Given the description of an element on the screen output the (x, y) to click on. 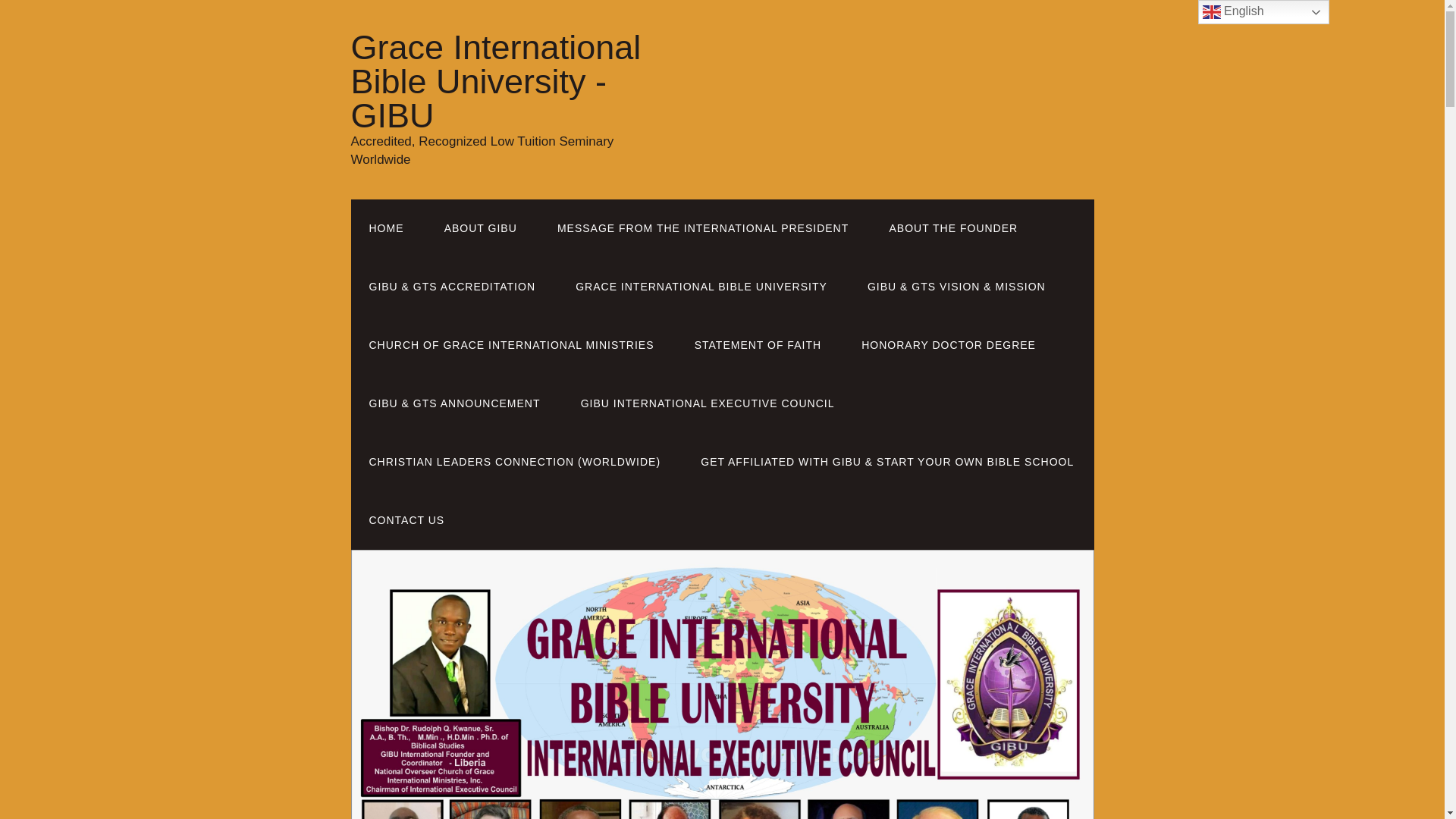
MESSAGE FROM THE INTERNATIONAL PRESIDENT (702, 228)
ABOUT THE FOUNDER (952, 228)
CONTACT US (406, 520)
HOME (386, 228)
GIBU INTERNATIONAL EXECUTIVE COUNCIL (707, 403)
GRACE INTERNATIONAL BIBLE UNIVERSITY (701, 286)
STATEMENT OF FAITH (758, 345)
HONORARY DOCTOR DEGREE (948, 345)
CHURCH OF GRACE INTERNATIONAL MINISTRIES (510, 345)
ABOUT GIBU (480, 228)
Grace International Bible University - GIBU (495, 81)
Grace International Bible University - GIBU (495, 81)
